Given the description of an element on the screen output the (x, y) to click on. 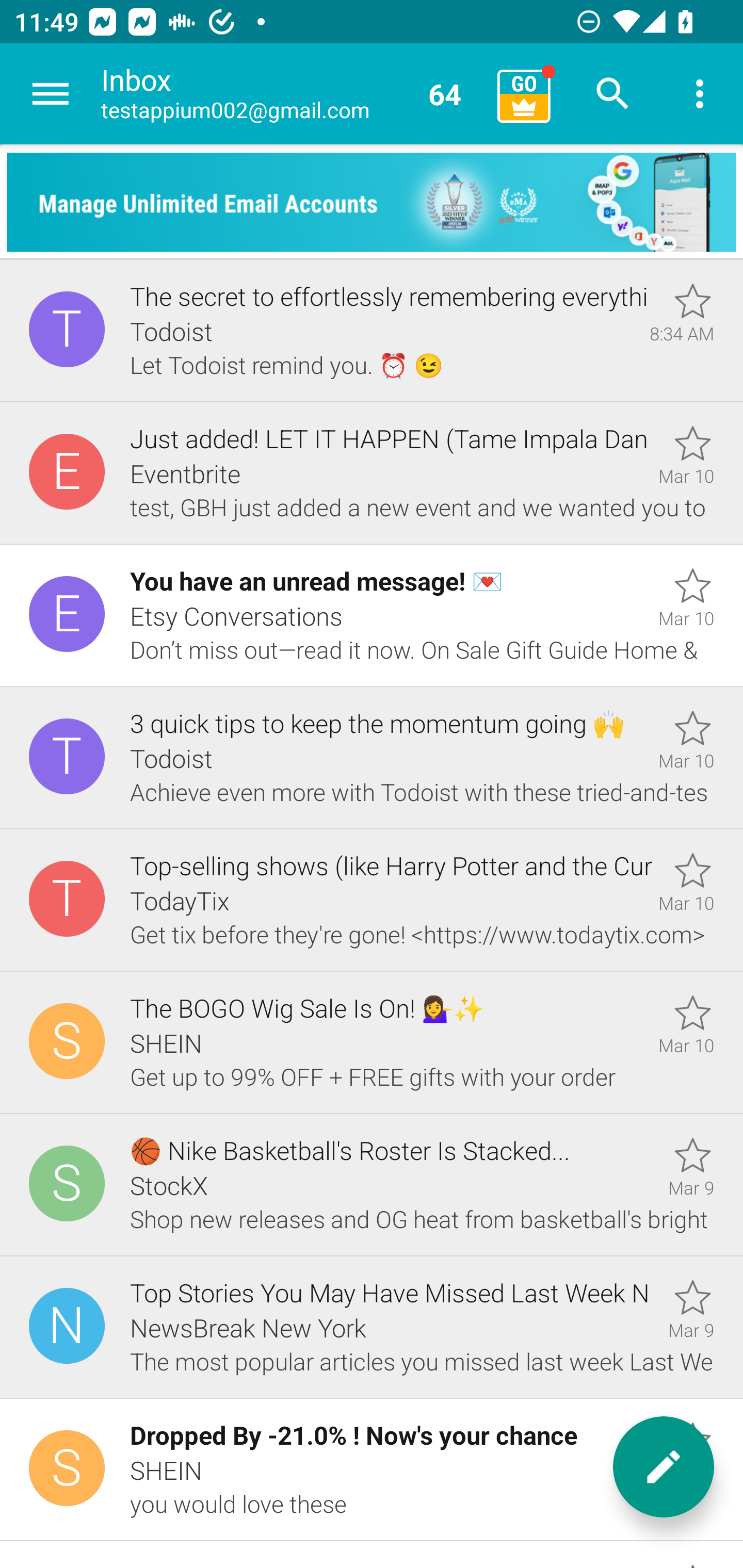
Navigate up (50, 93)
Inbox testappium002@gmail.com 64 (291, 93)
Search (612, 93)
More options (699, 93)
New message (663, 1466)
